Given the description of an element on the screen output the (x, y) to click on. 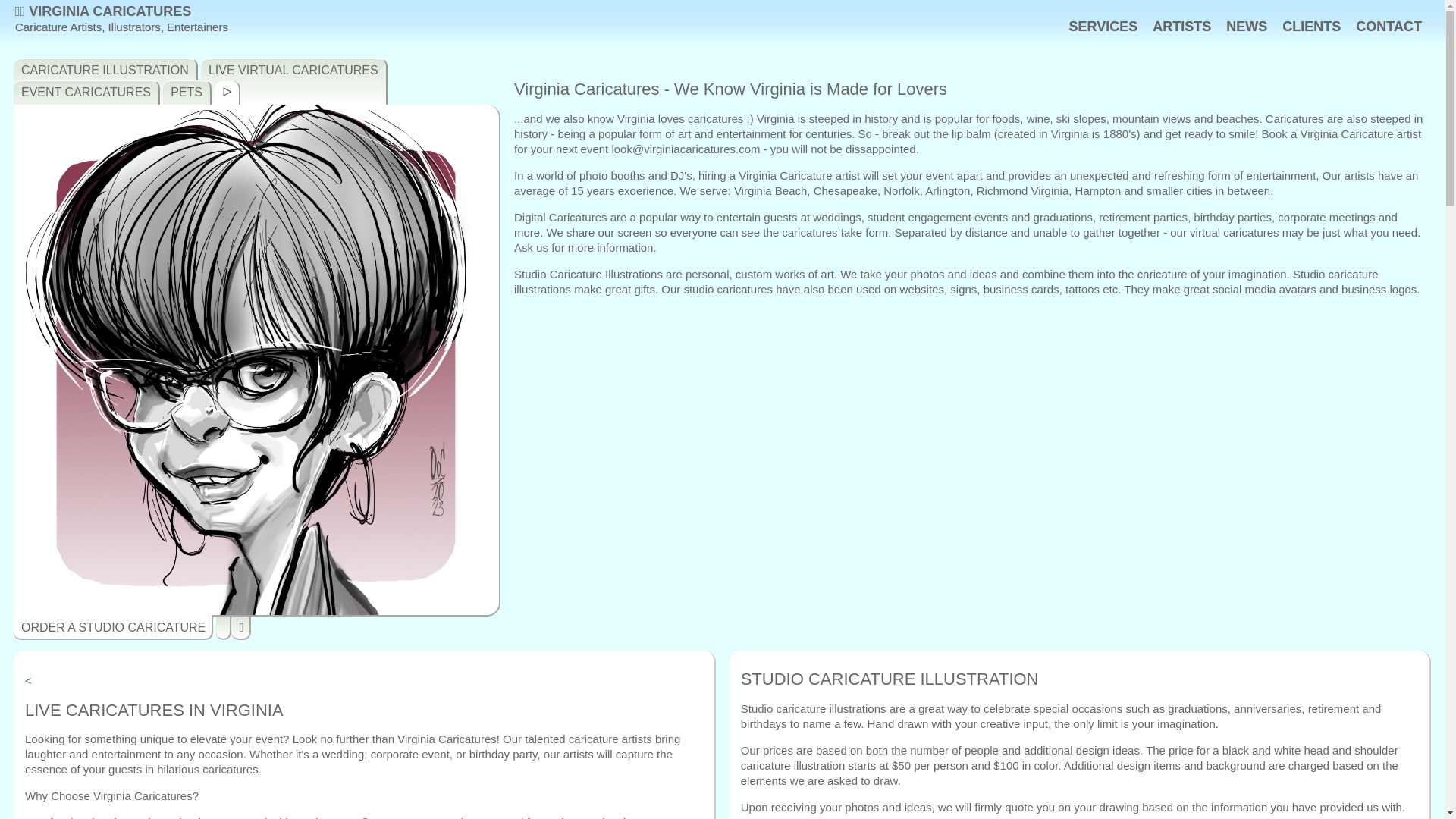
LIVE VIRTUAL CARICATURES (293, 82)
STUDIO CARICATURE ILLUSTRATION (1079, 679)
CONTACT (1388, 26)
SERVICES (1103, 26)
NEWS (1245, 26)
CLIENTS (1311, 26)
CARICATURE ILLUSTRATION (105, 82)
PETS (187, 104)
ORDER A STUDIO CARICATURE (112, 627)
ARTISTS (1182, 26)
EVENT CARICATURES (86, 104)
